Given the description of an element on the screen output the (x, y) to click on. 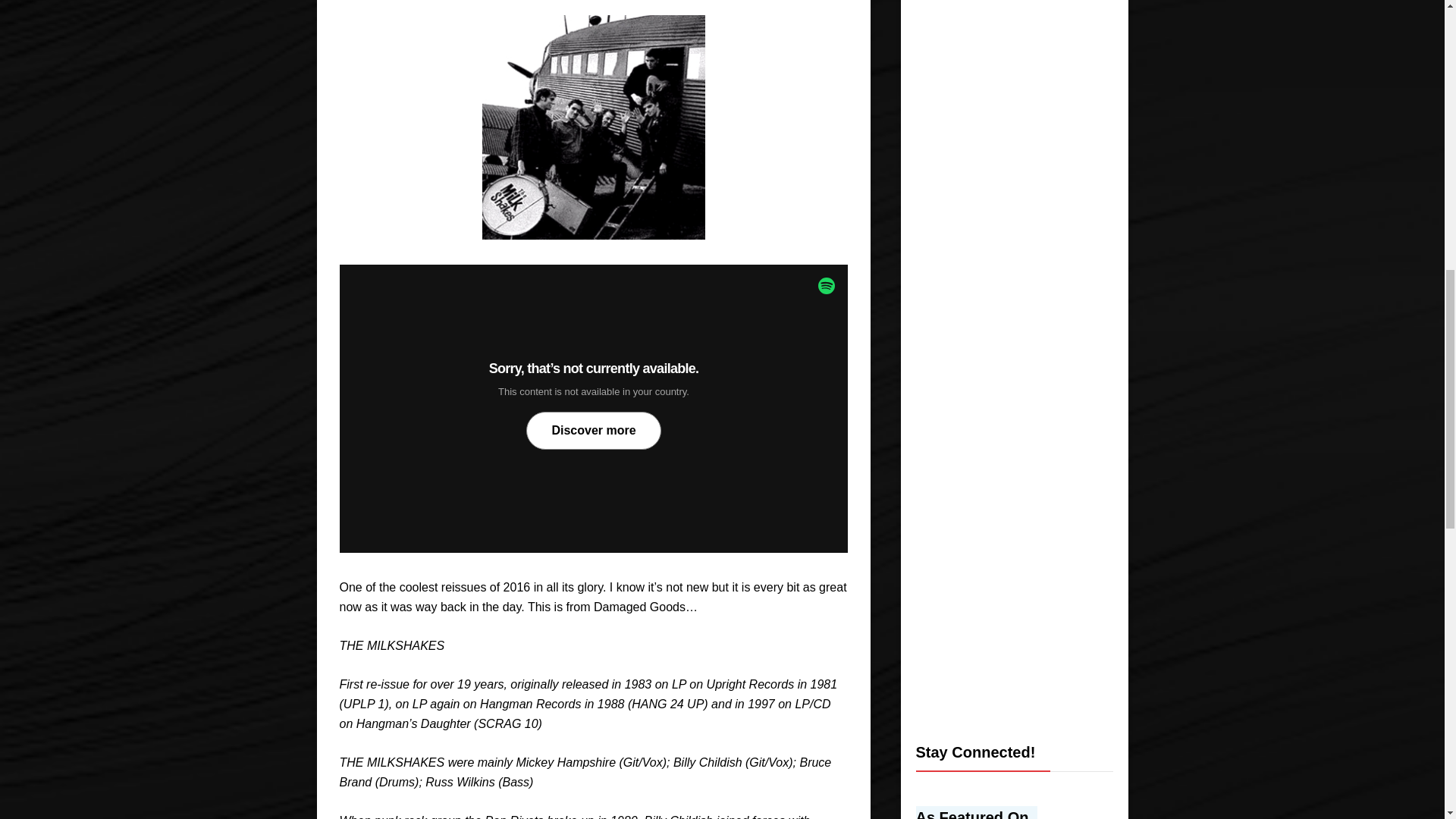
HYPE MACHINE (979, 812)
